Given the description of an element on the screen output the (x, y) to click on. 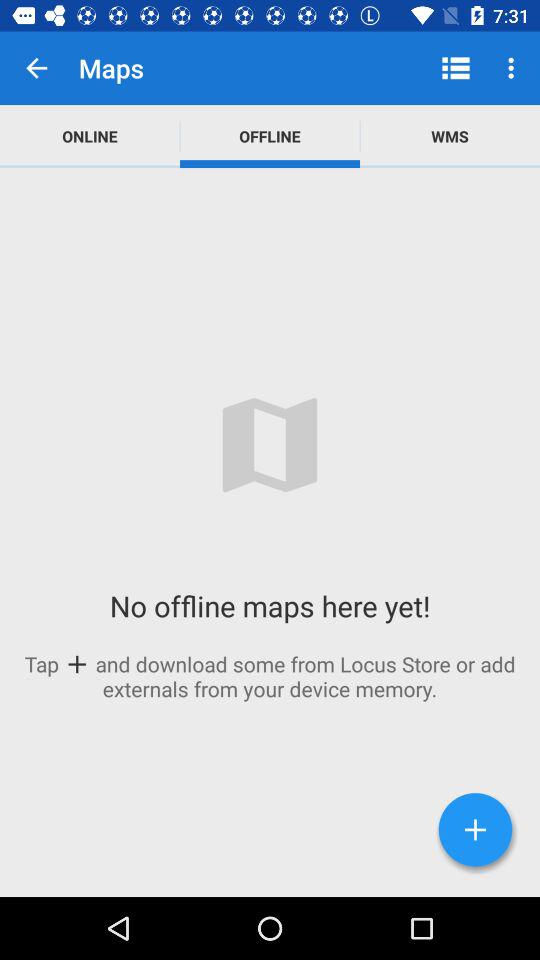
click the app to the right of offline item (455, 67)
